Given the description of an element on the screen output the (x, y) to click on. 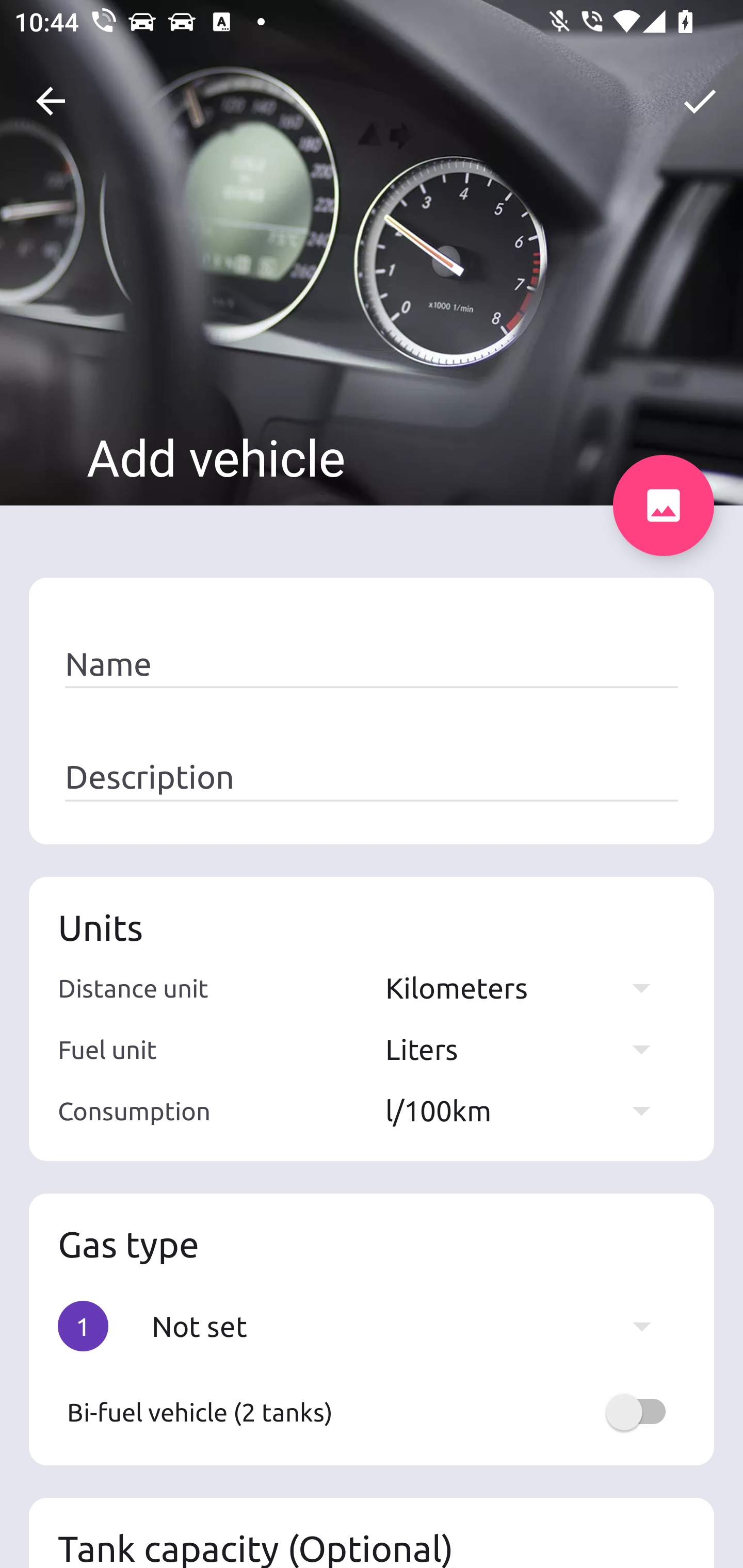
Navigate up (50, 101)
OK (699, 101)
Name (371, 664)
Description (371, 777)
Kilometers (527, 987)
Liters (527, 1048)
l/100km (527, 1110)
Not set (411, 1325)
Bi-fuel vehicle (2 tanks) (371, 1411)
